Given the description of an element on the screen output the (x, y) to click on. 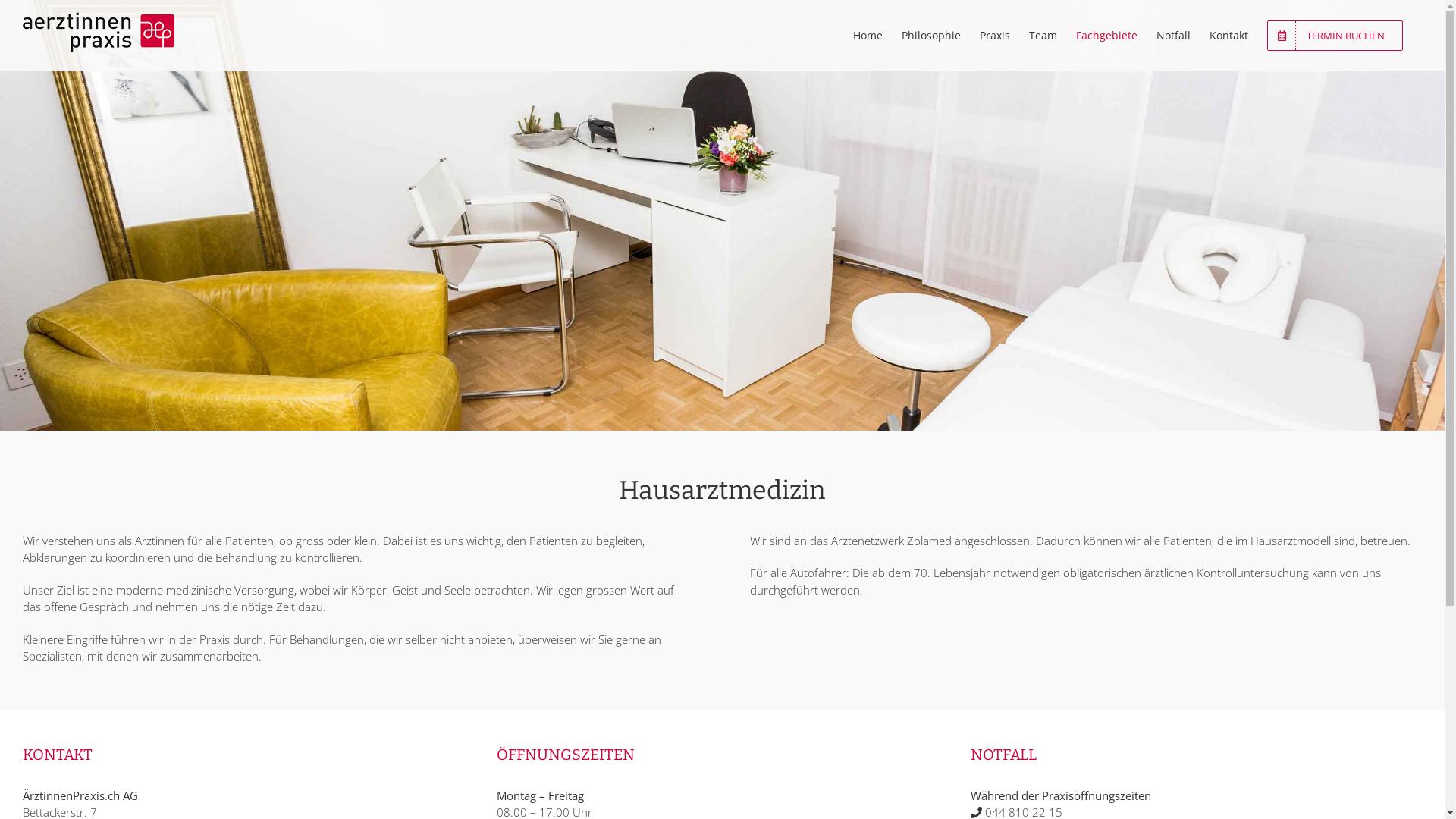
Team Element type: text (1043, 35)
Home Element type: text (867, 35)
Fachgebiete Element type: text (1106, 35)
Philosophie Element type: text (930, 35)
Praxis Element type: text (994, 35)
Notfall Element type: text (1173, 35)
TERMIN BUCHEN Element type: text (1334, 35)
Kontakt Element type: text (1228, 35)
